Given the description of an element on the screen output the (x, y) to click on. 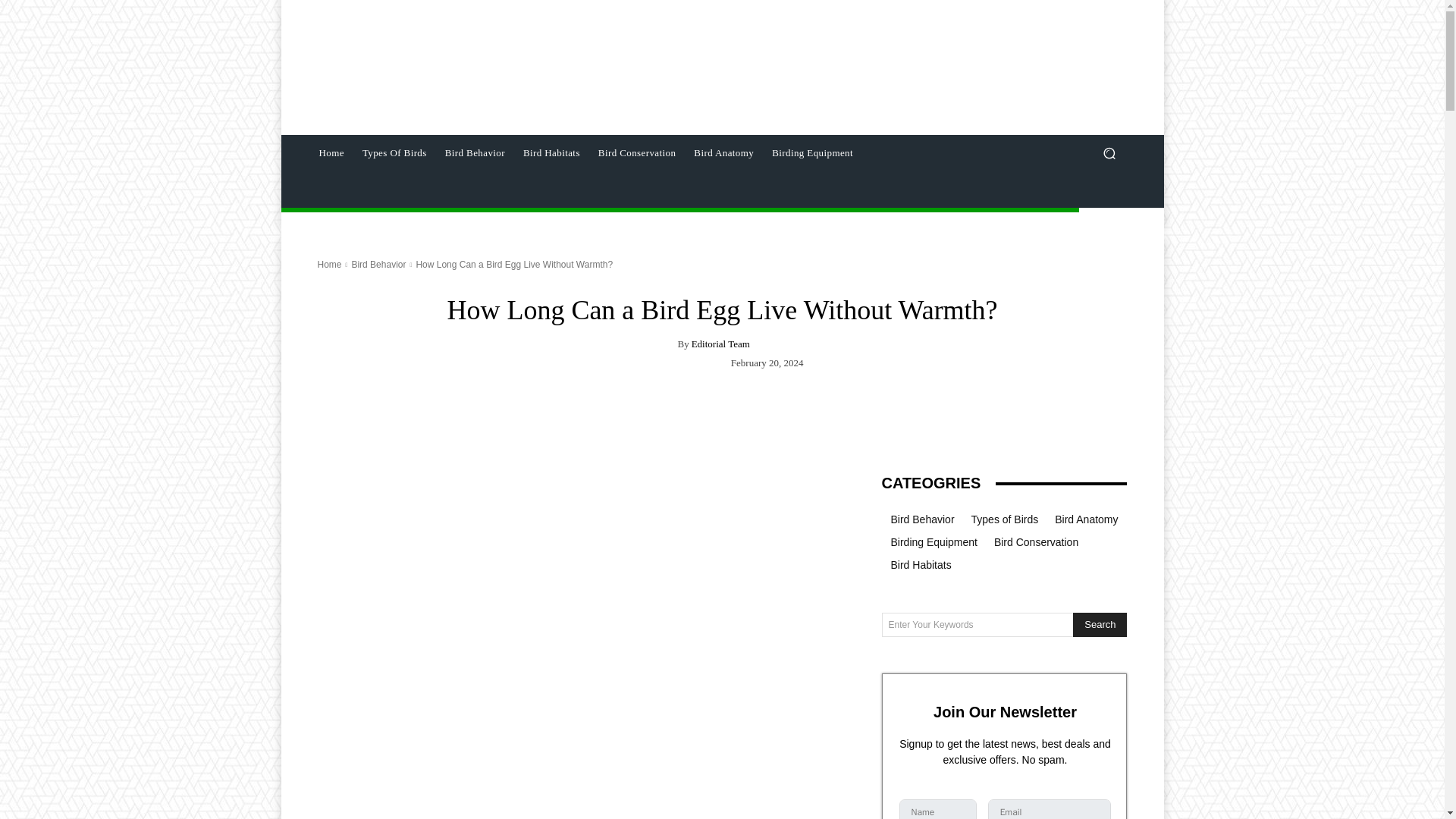
Bird Conservation (637, 153)
Bird Habitats (551, 153)
Editorial Team (720, 343)
Birding Equipment (811, 153)
Home (330, 153)
Home (328, 264)
Bird Behavior (378, 264)
View all posts in Bird Behavior (378, 264)
Bird Anatomy (723, 153)
Types Of Birds (394, 153)
